Given the description of an element on the screen output the (x, y) to click on. 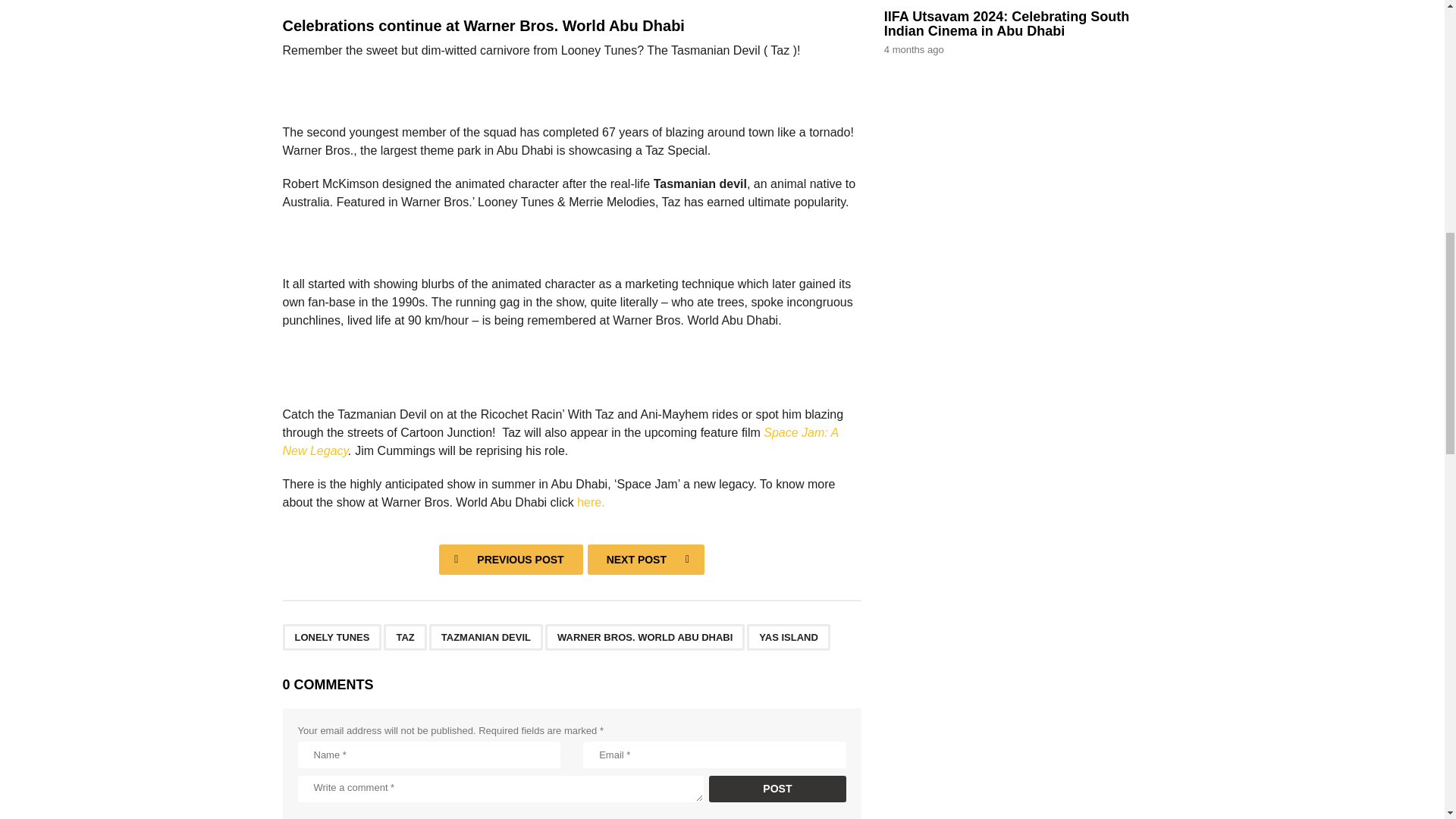
Post (777, 788)
